Given the description of an element on the screen output the (x, y) to click on. 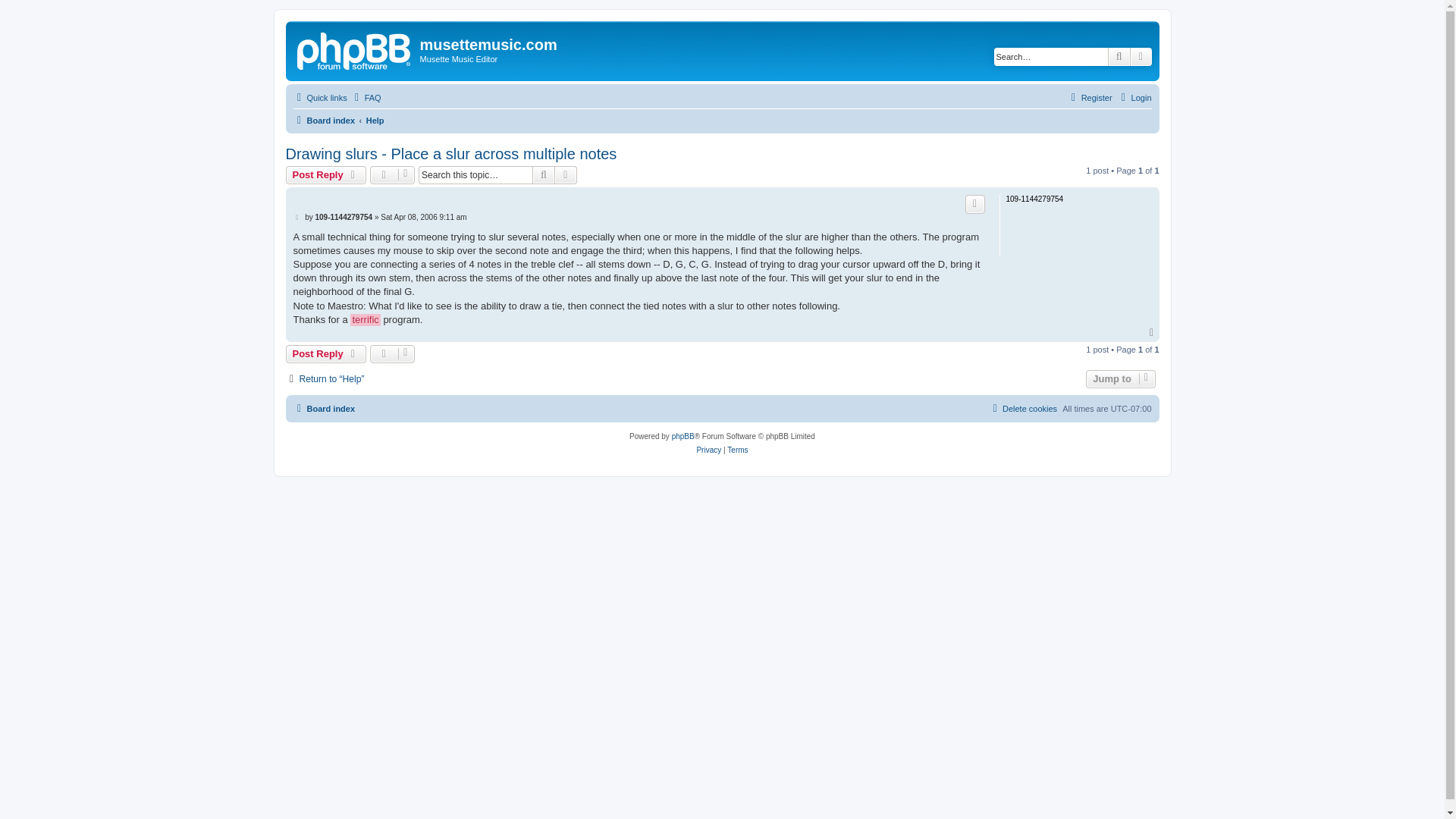
FAQ (365, 97)
Topic tools (391, 353)
Drawing slurs - Place a slur across multiple notes (450, 153)
phpBB (682, 436)
Quote (975, 203)
Post (297, 216)
Top (1151, 332)
Search (1119, 56)
Help (375, 120)
Register (1089, 97)
